Given the description of an element on the screen output the (x, y) to click on. 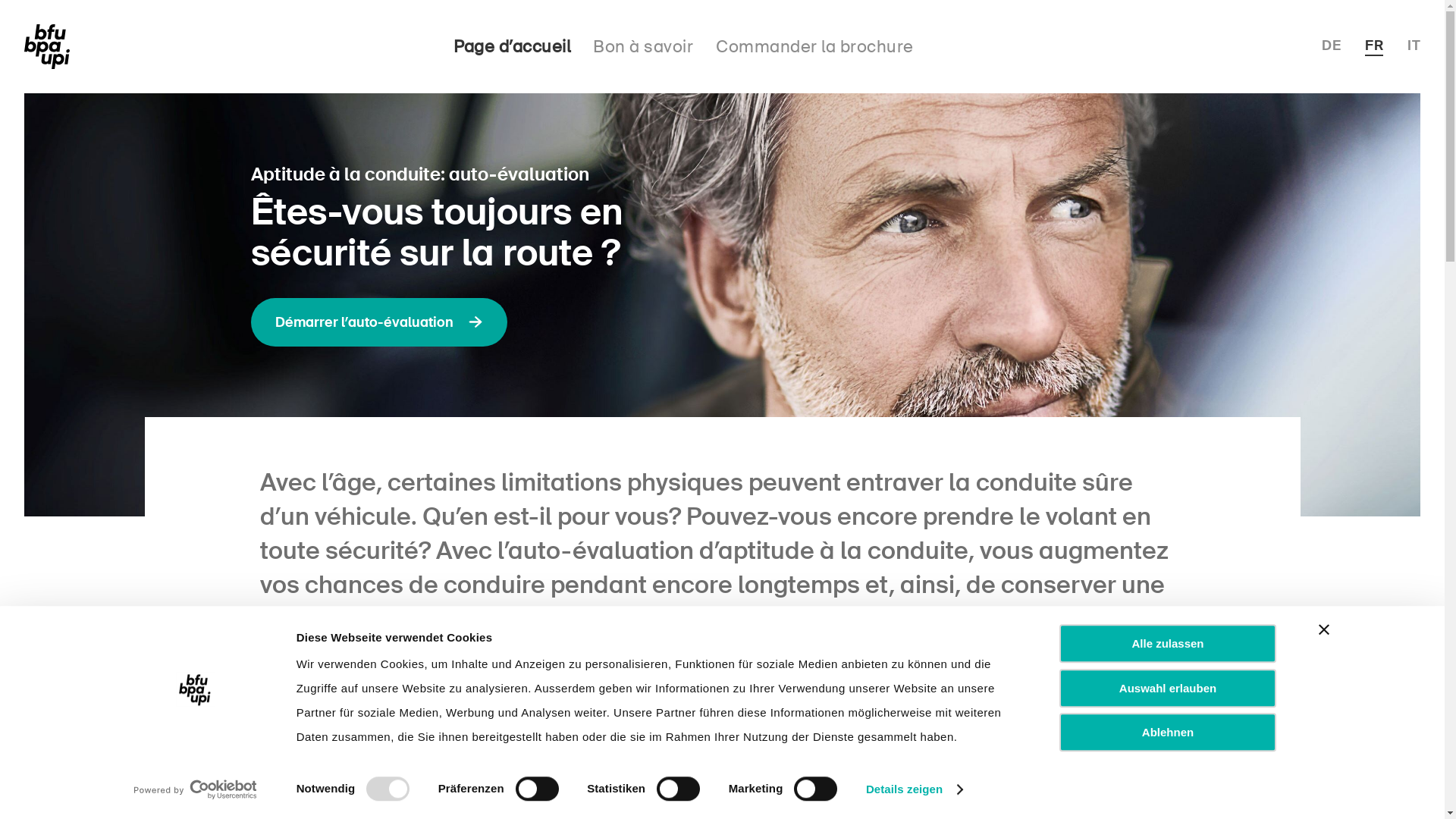
DE Element type: text (1330, 45)
Commander la brochure Element type: text (814, 46)
Ablehnen Element type: text (1167, 731)
Auswahl erlauben Element type: text (1167, 687)
Alle zulassen Element type: text (1167, 643)
IT Element type: text (1413, 45)
Details zeigen Element type: text (914, 789)
FR Element type: text (1374, 46)
